Given the description of an element on the screen output the (x, y) to click on. 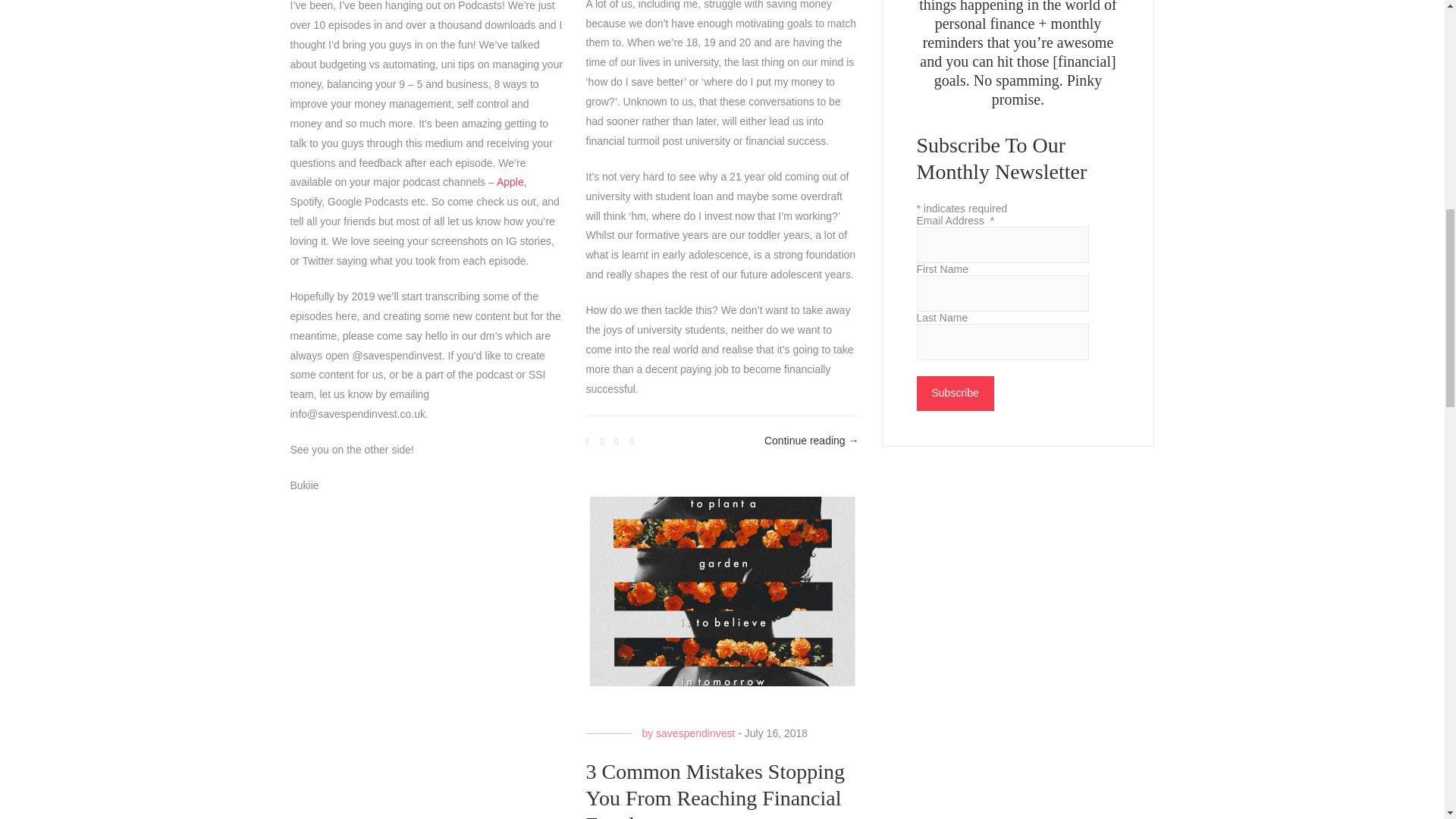
July 16, 2018 (776, 733)
Subscribe (953, 393)
savespendinvest (695, 733)
Apple (510, 182)
